Given the description of an element on the screen output the (x, y) to click on. 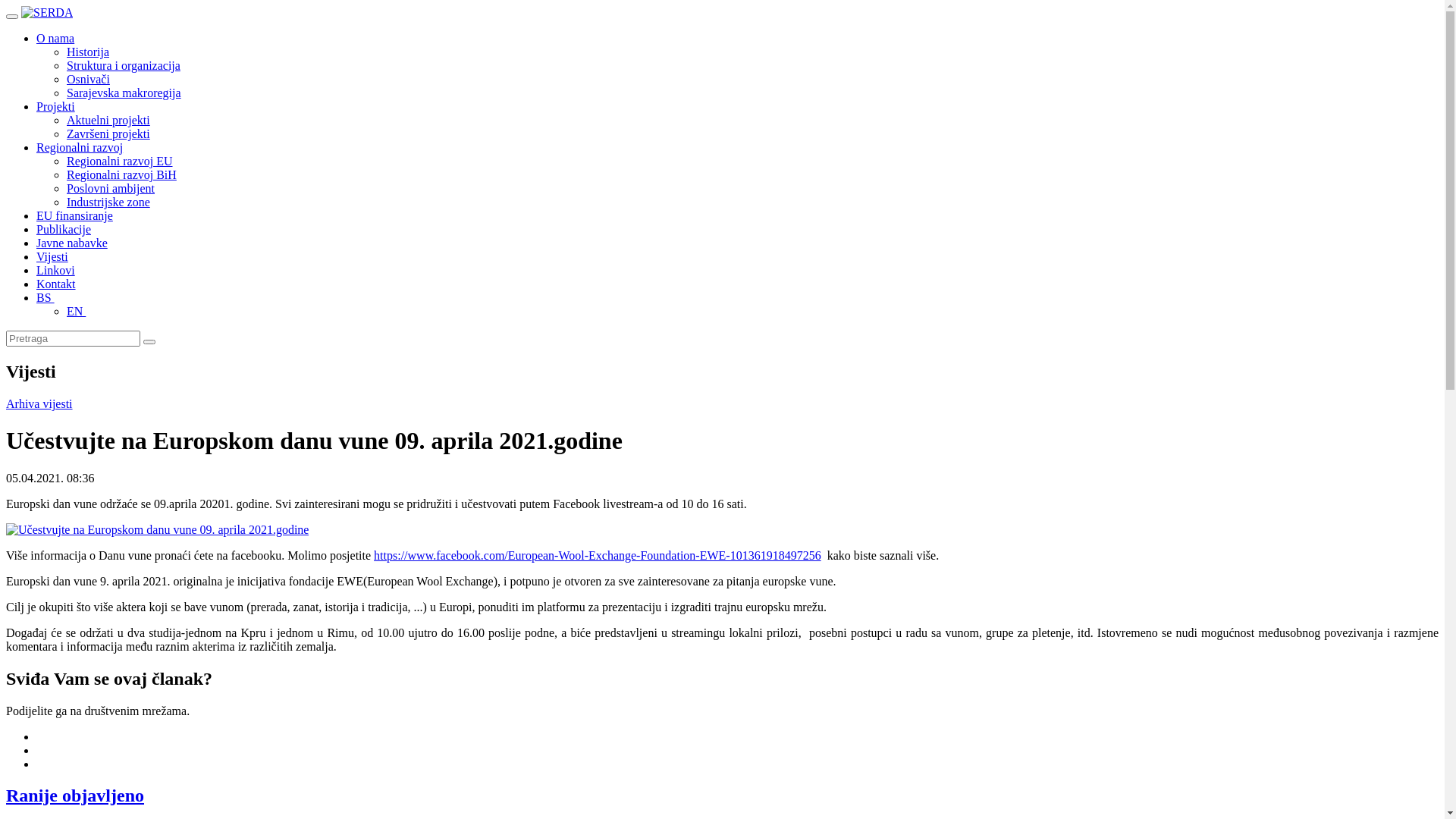
Industrijske zone Element type: text (108, 201)
Struktura i organizacija Element type: text (123, 65)
Regionalni razvoj Element type: text (79, 147)
Vijesti Element type: text (52, 256)
Kontakt Element type: text (55, 283)
Arhiva vijesti Element type: text (39, 403)
EN Element type: text (75, 310)
Historija Element type: text (87, 51)
Sarajevska makroregija Element type: text (123, 92)
EU finansiranje Element type: text (74, 215)
Javne nabavke Element type: text (71, 242)
Ranije objavljeno Element type: text (75, 795)
Projekti Element type: text (55, 106)
Regionalni razvoj EU Element type: text (119, 160)
O nama Element type: text (55, 37)
Aktuelni projekti Element type: text (108, 119)
Publikacije Element type: text (63, 228)
BS Element type: text (45, 297)
Linkovi Element type: text (55, 269)
Regionalni razvoj BiH Element type: text (121, 174)
Poslovni ambijent Element type: text (110, 188)
